Given the description of an element on the screen output the (x, y) to click on. 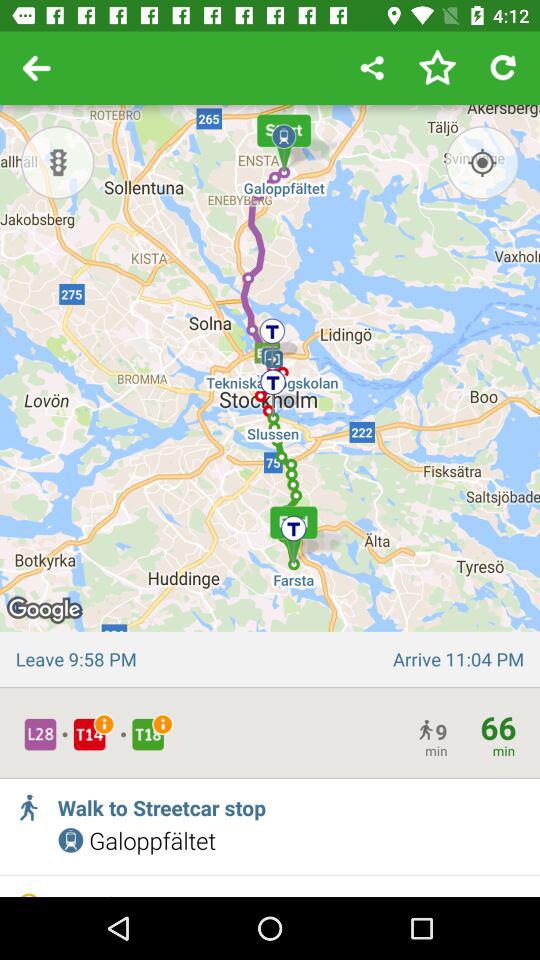
view compass (482, 162)
